Given the description of an element on the screen output the (x, y) to click on. 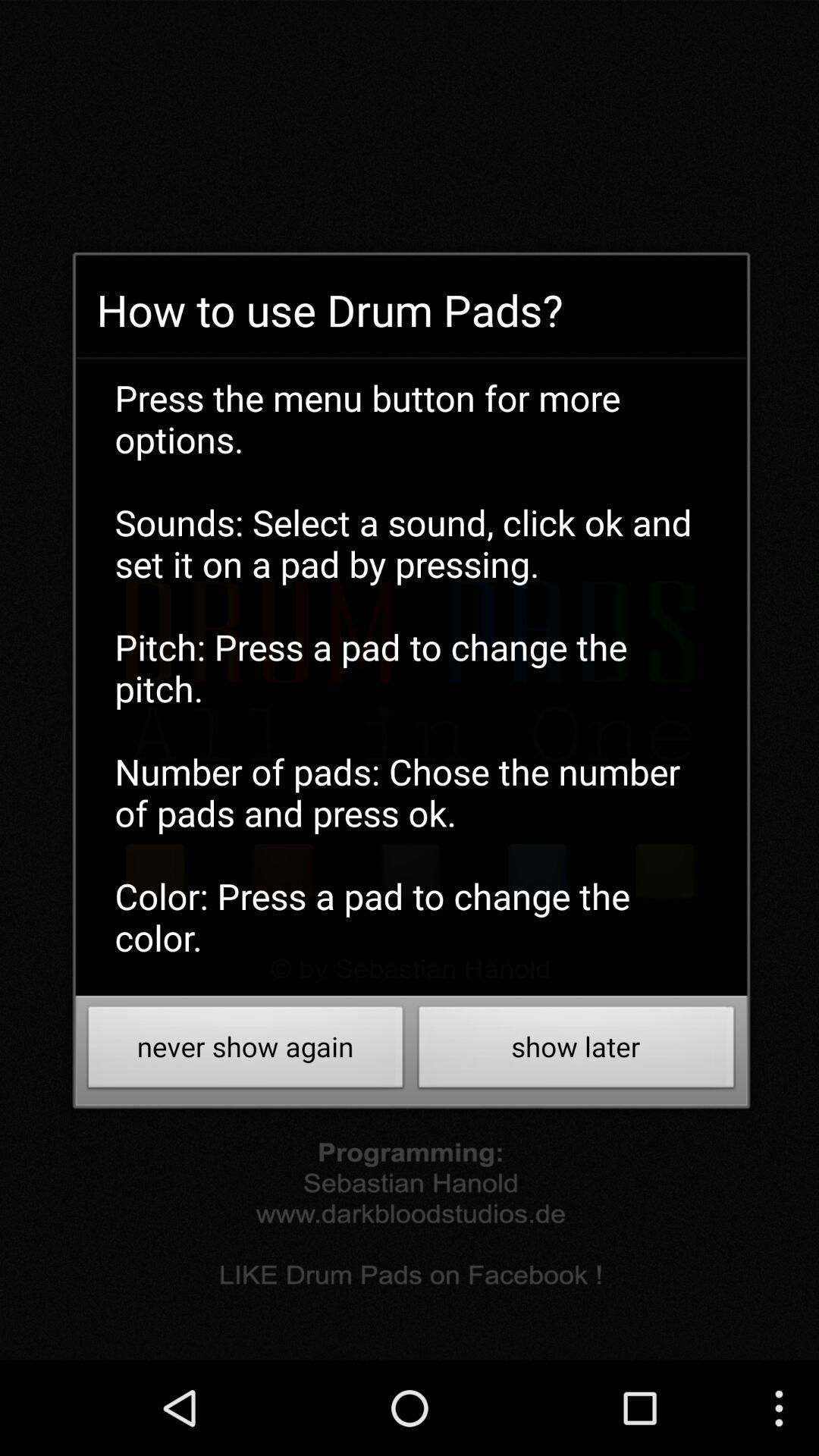
open the icon to the left of show later item (245, 1051)
